Given the description of an element on the screen output the (x, y) to click on. 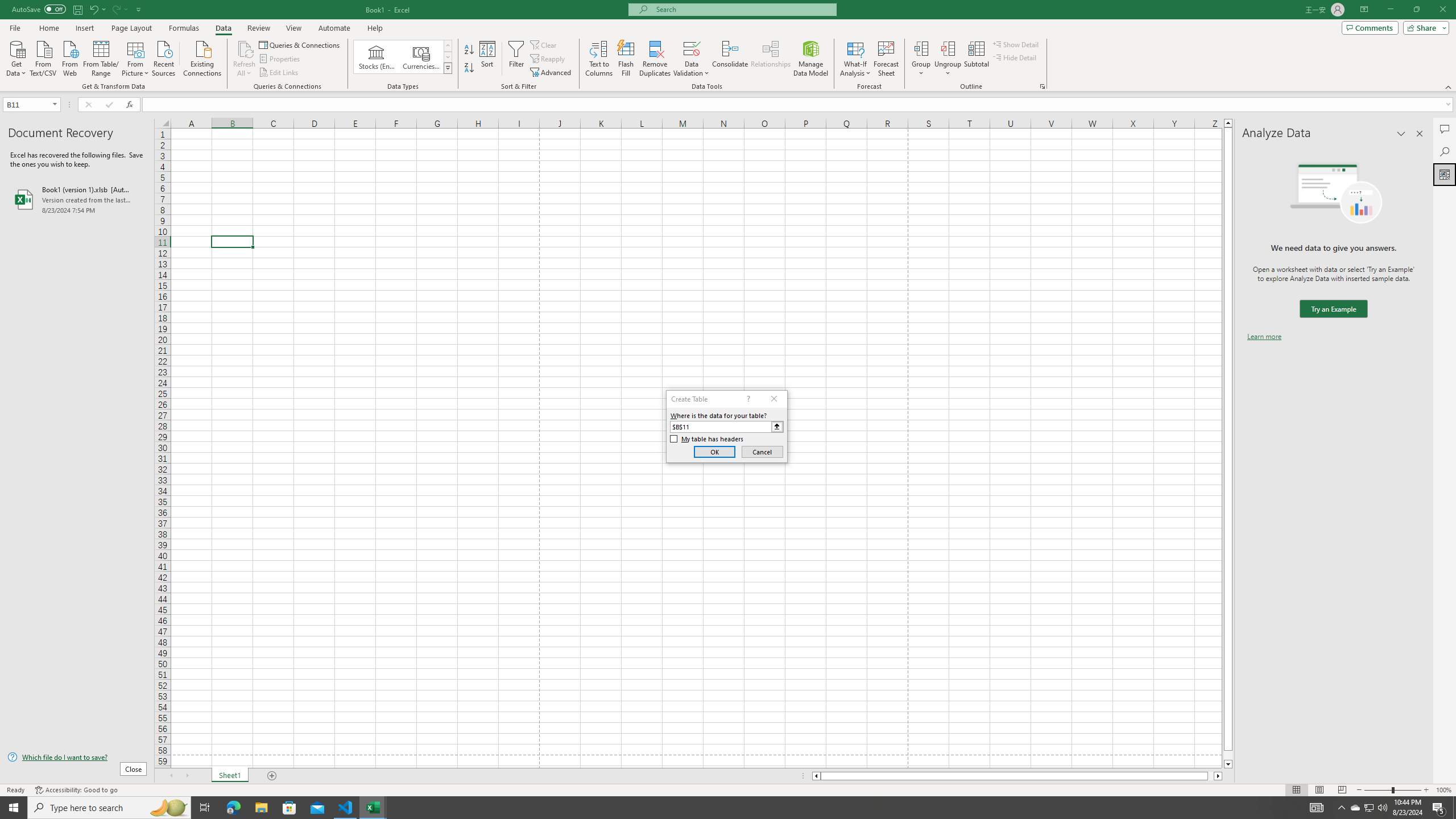
Existing Connections (202, 57)
Book1 (version 1).xlsb  [AutoRecovered] (77, 199)
Customize Quick Access Toolbar (139, 9)
Accessibility Checker Accessibility: Good to go (76, 790)
Ribbon Display Options (1364, 9)
Recent Sources (163, 57)
Zoom (1392, 790)
Share (1423, 27)
More Options (947, 68)
AutomationID: ConvertToLinkedEntity (403, 56)
Ungroup... (947, 58)
Formulas (184, 28)
Class: NetUIScrollBar (1016, 775)
